Given the description of an element on the screen output the (x, y) to click on. 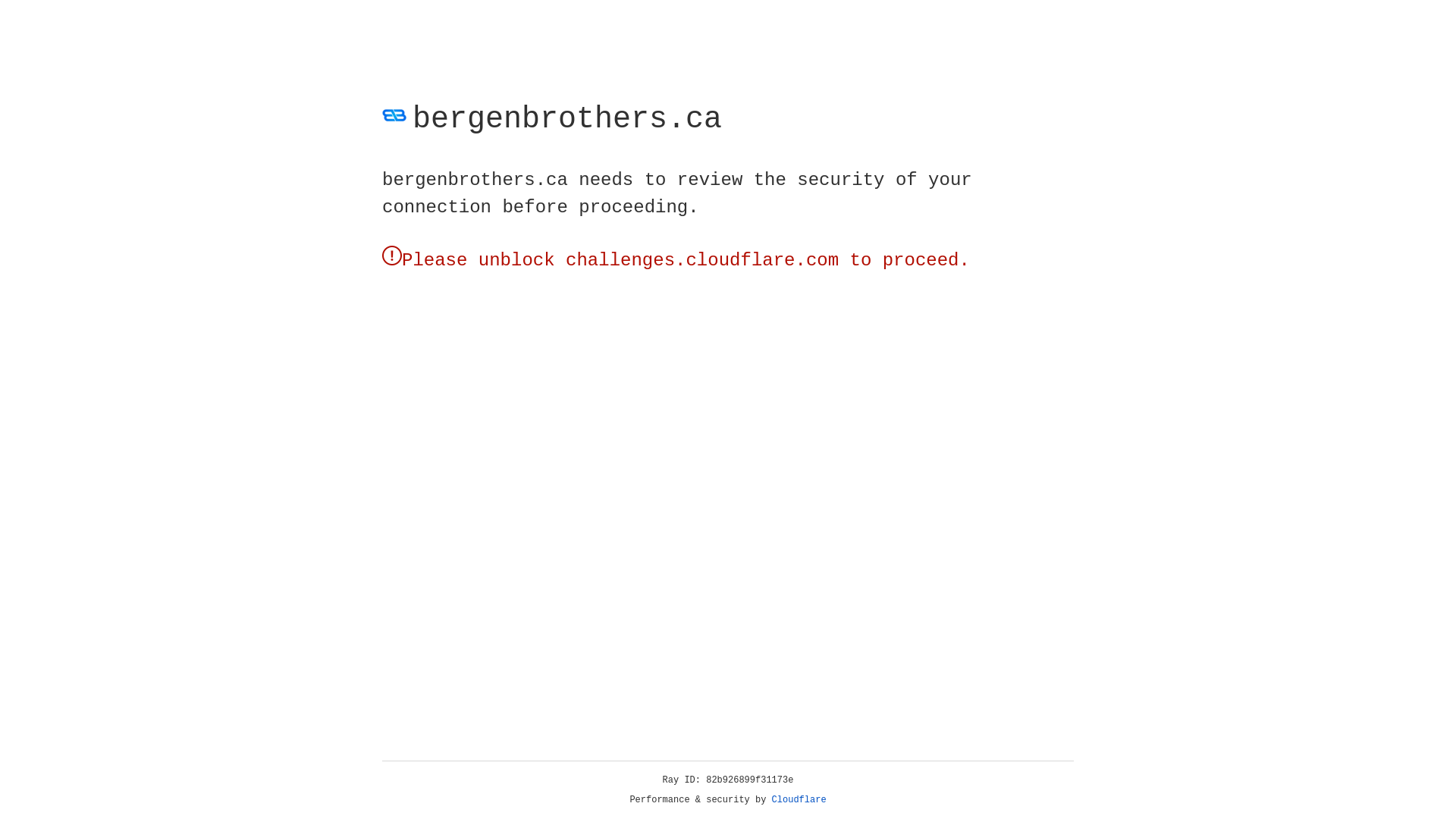
Cloudflare Element type: text (798, 799)
